Given the description of an element on the screen output the (x, y) to click on. 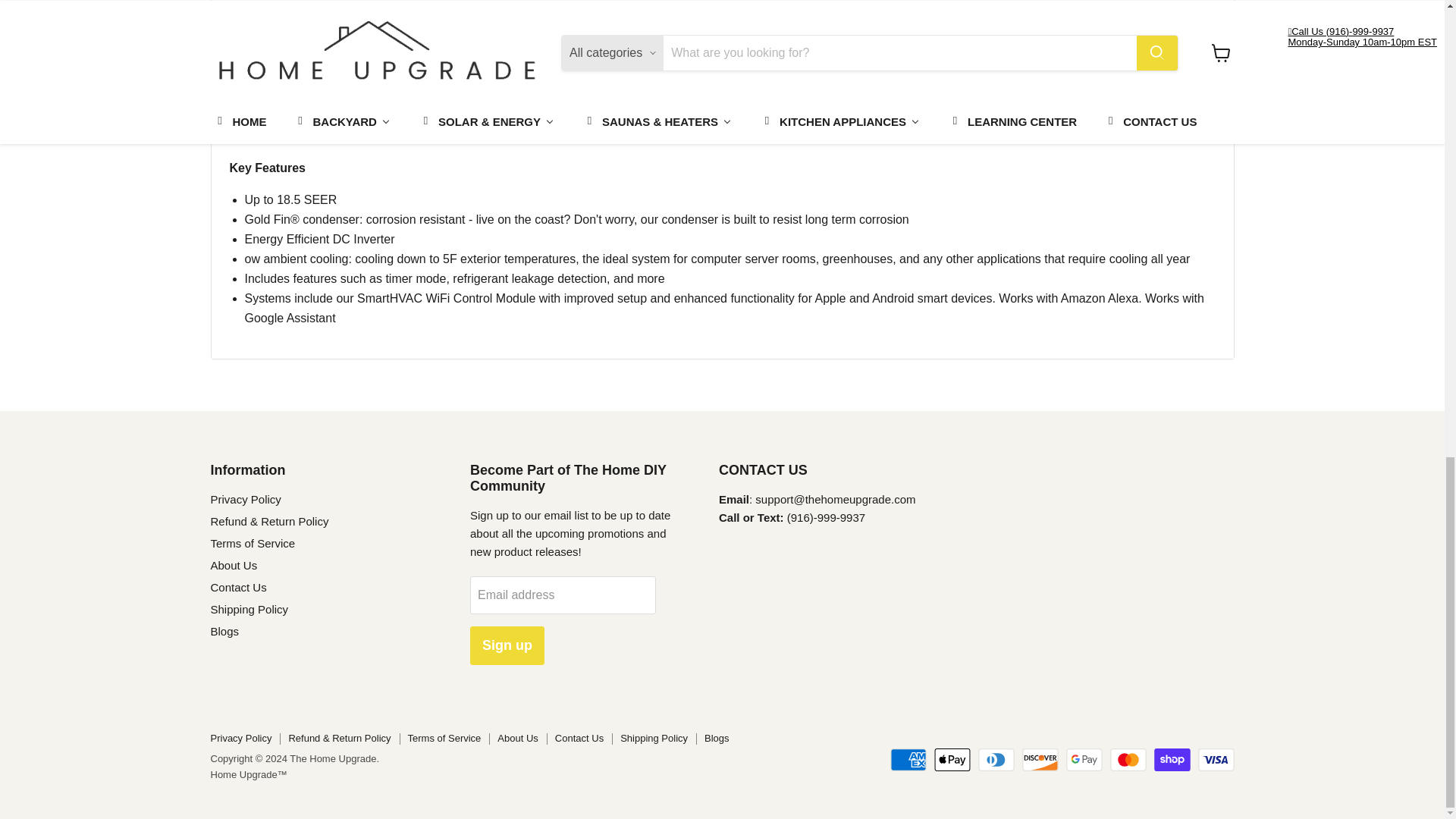
Mastercard (1128, 759)
Google Pay (1083, 759)
American Express (907, 759)
Discover (1040, 759)
Apple Pay (952, 759)
Diners Club (996, 759)
